Given the description of an element on the screen output the (x, y) to click on. 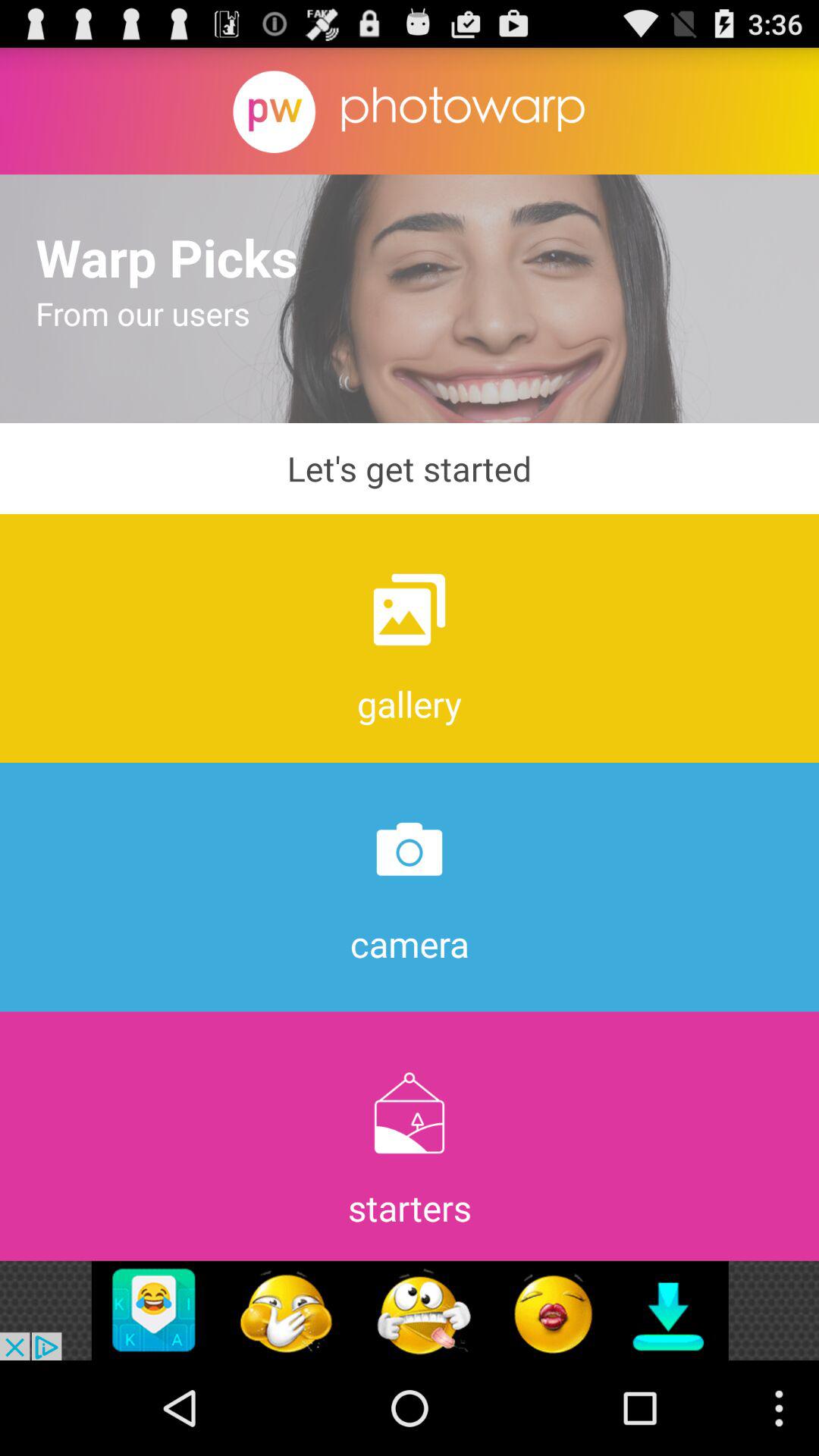
emoji (409, 1310)
